Given the description of an element on the screen output the (x, y) to click on. 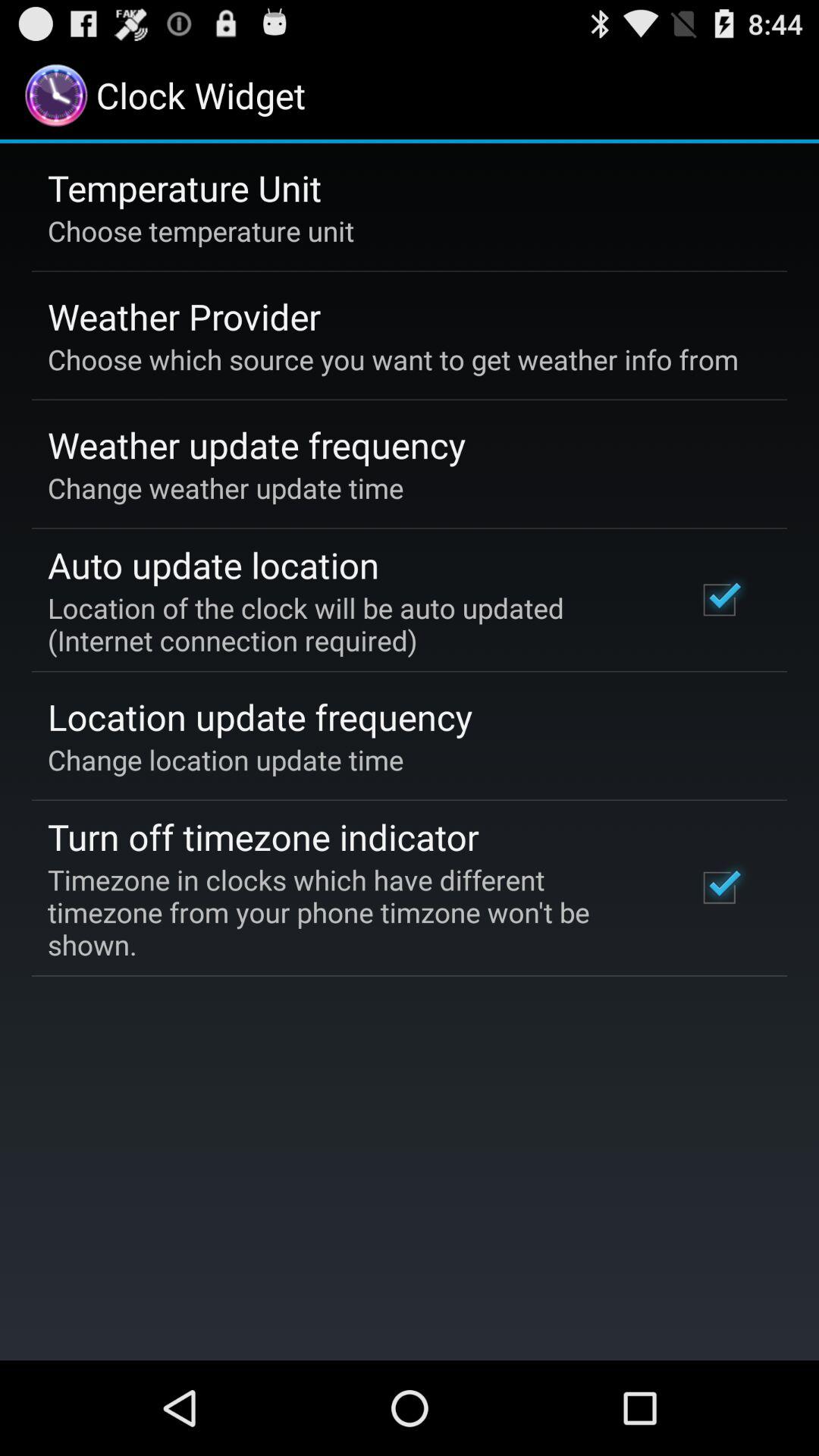
flip until the timezone in clocks icon (351, 912)
